Given the description of an element on the screen output the (x, y) to click on. 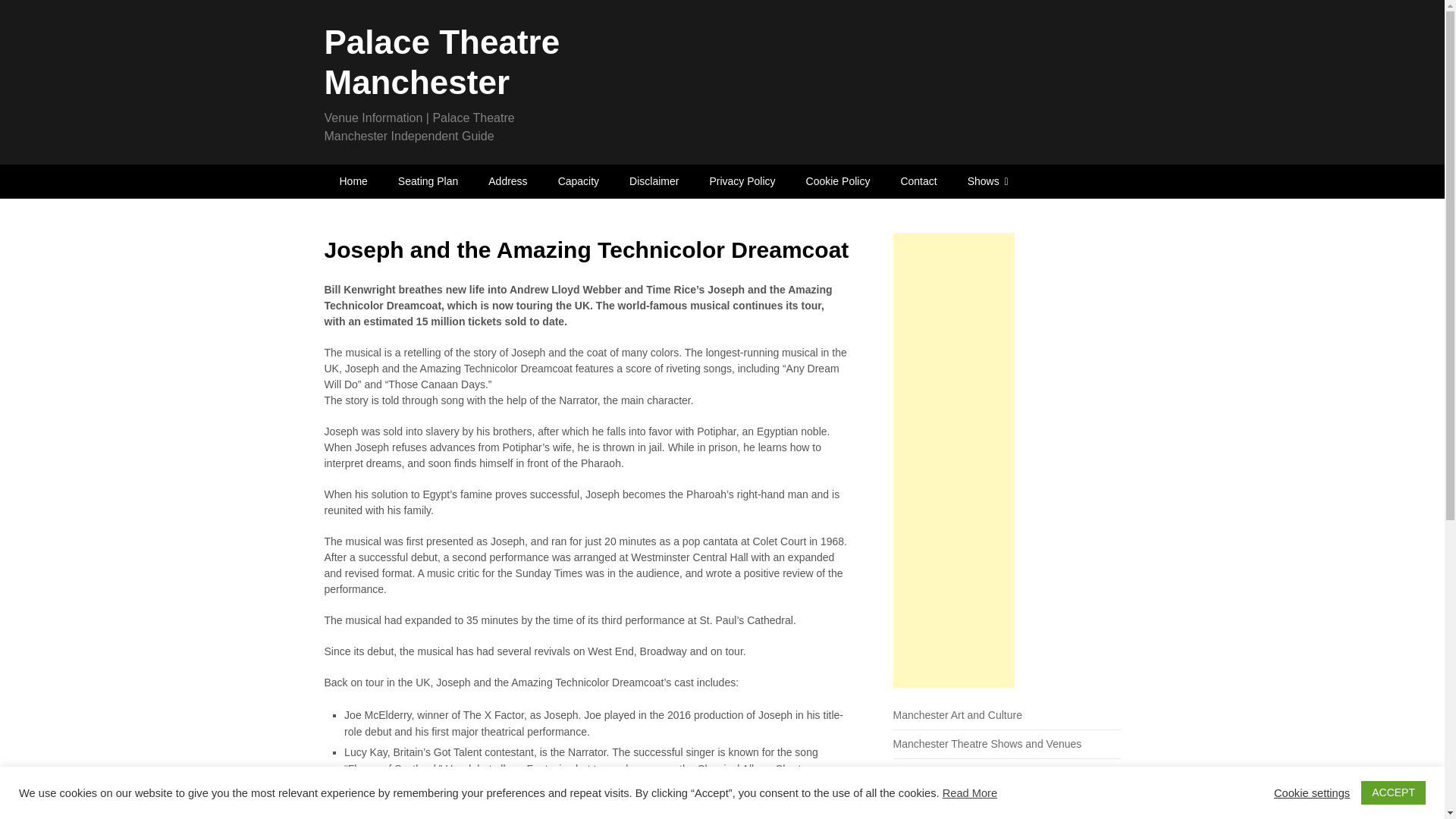
Cookie Policy (837, 181)
Privacy Policy (742, 181)
Seating Plan (427, 181)
Palace Theatre Manchester (442, 61)
Read More (969, 793)
Manchester Art and Culture (957, 715)
Shows (987, 181)
Contact (918, 181)
ACCEPT (1393, 792)
Address (507, 181)
Restaurants in Manchester (956, 801)
Hotels in Manchester (942, 772)
Manchester Theatre Shows and Venues (987, 743)
Home (353, 181)
Disclaimer (654, 181)
